Given the description of an element on the screen output the (x, y) to click on. 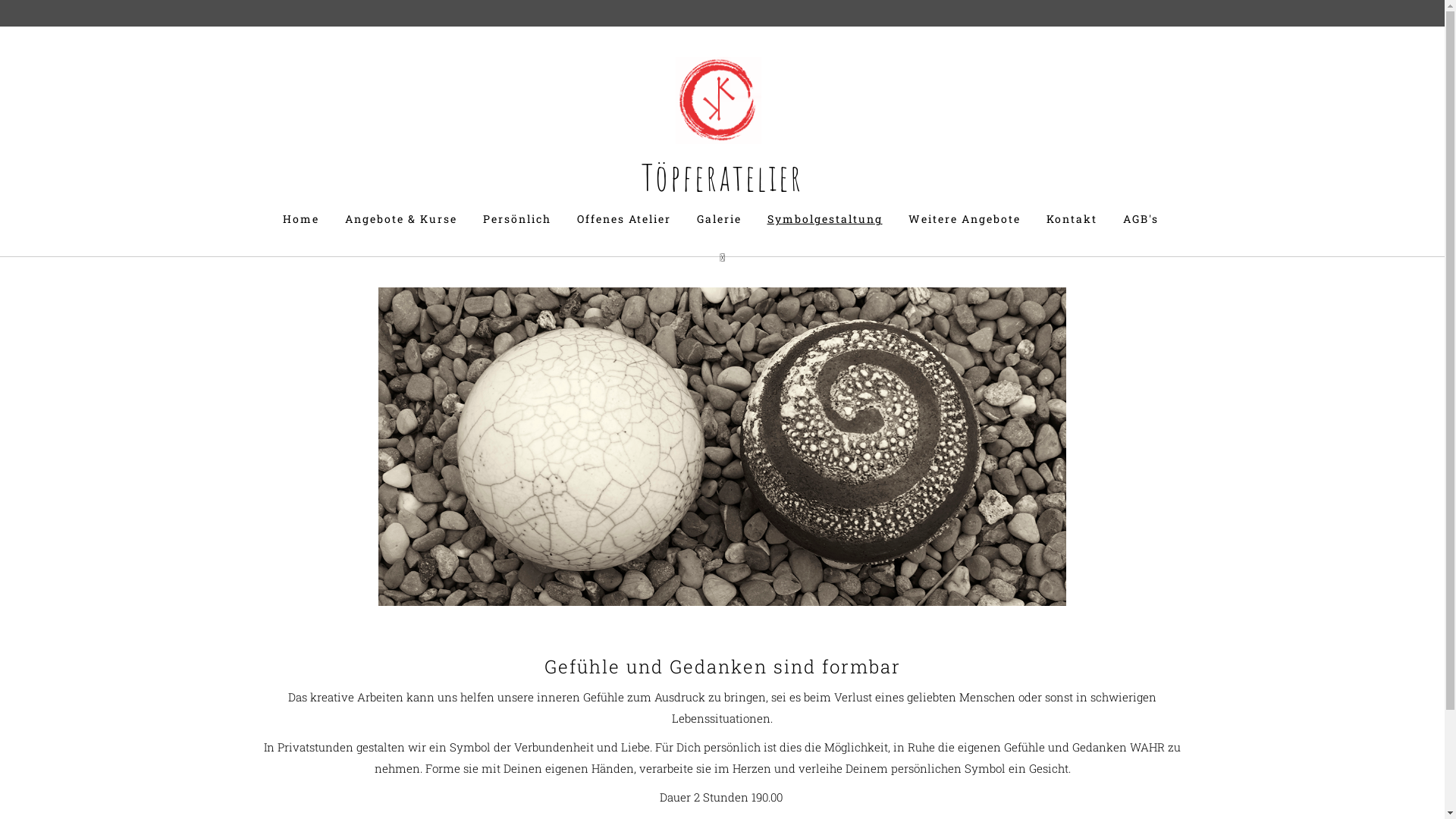
AGB's Element type: text (1140, 218)
Weitere Angebote Element type: text (963, 218)
Offenes Atelier Element type: text (623, 218)
Kontakt Element type: text (1070, 218)
Angebote & Kurse Element type: text (400, 218)
Symbolgestaltung Element type: text (824, 218)
Home Element type: text (300, 218)
Galerie Element type: text (719, 218)
